Given the description of an element on the screen output the (x, y) to click on. 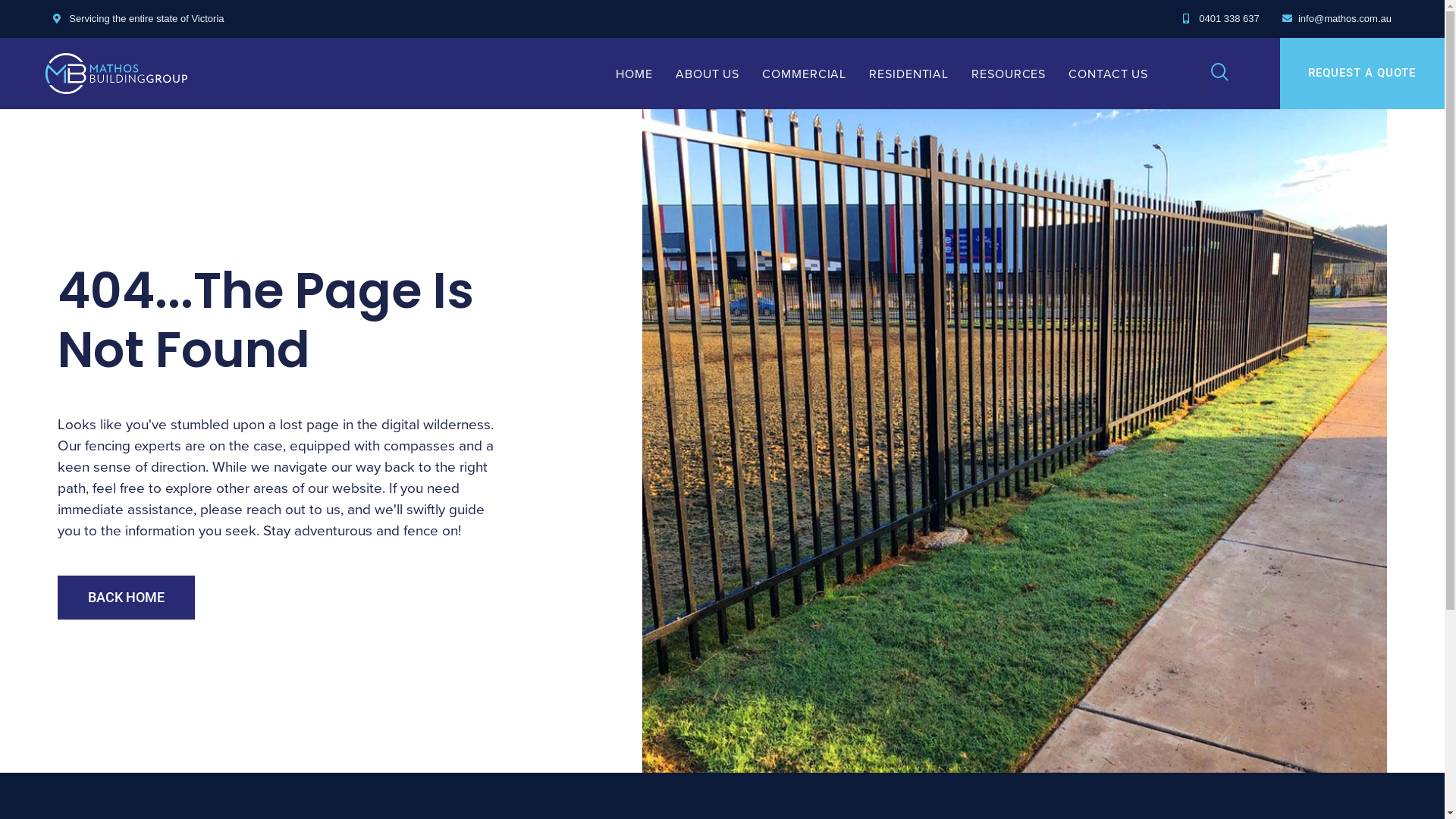
HOME Element type: text (634, 73)
RESOURCES Element type: text (1008, 73)
RESIDENTIAL Element type: text (908, 73)
REQUEST A QUOTE Element type: text (1361, 72)
info@mathos.com.au Element type: text (1336, 18)
0401 338 637 Element type: text (1221, 18)
COMMERCIAL Element type: text (803, 73)
CONTACT US Element type: text (1108, 73)
ABOUT US Element type: text (707, 73)
BACK HOME Element type: text (125, 597)
